Given the description of an element on the screen output the (x, y) to click on. 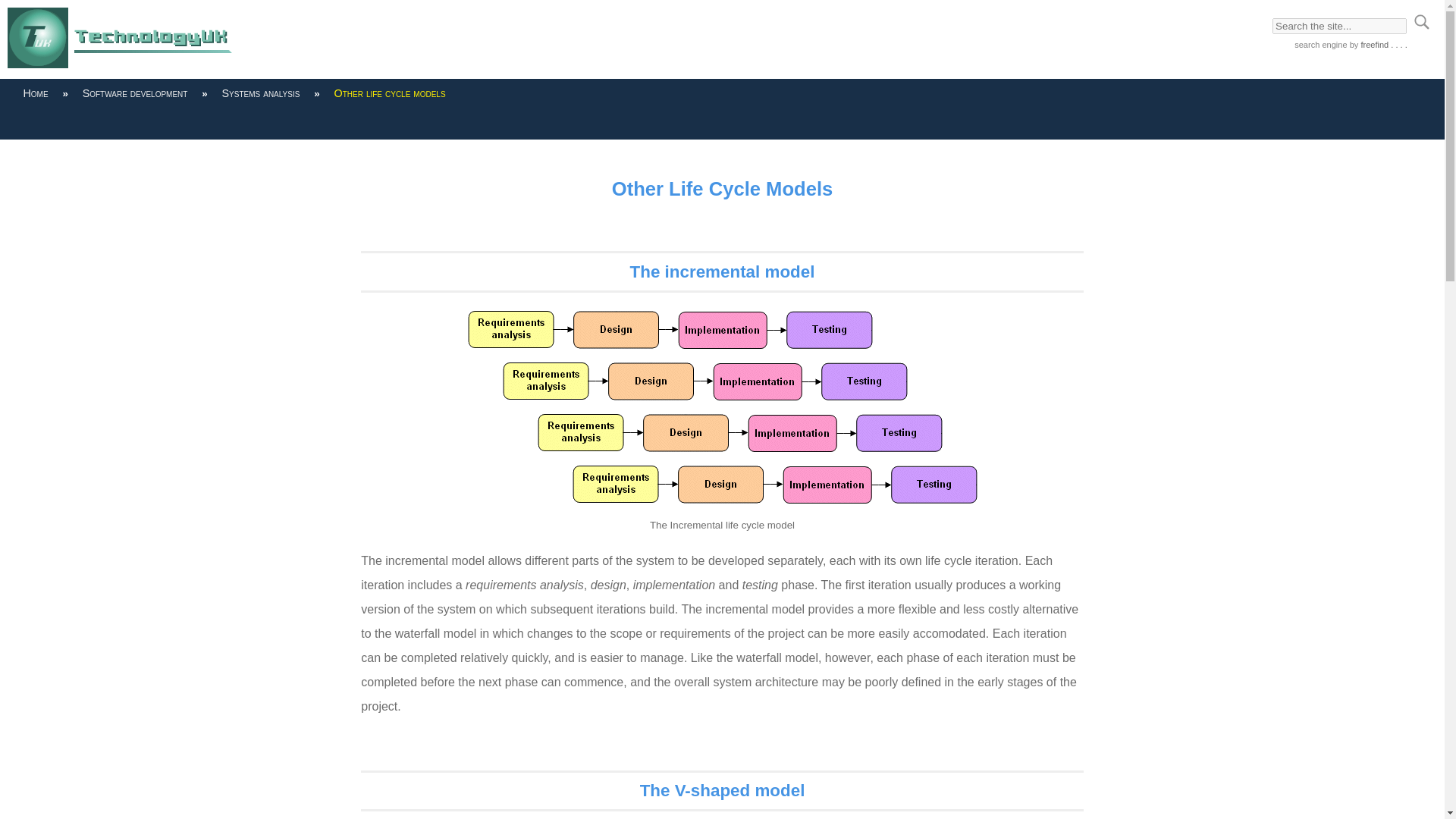
Home (35, 92)
search engine (1320, 44)
Other life cycle models (389, 92)
by freefind . . . . (1377, 44)
Software development (134, 92)
Systems analysis (259, 92)
